Given the description of an element on the screen output the (x, y) to click on. 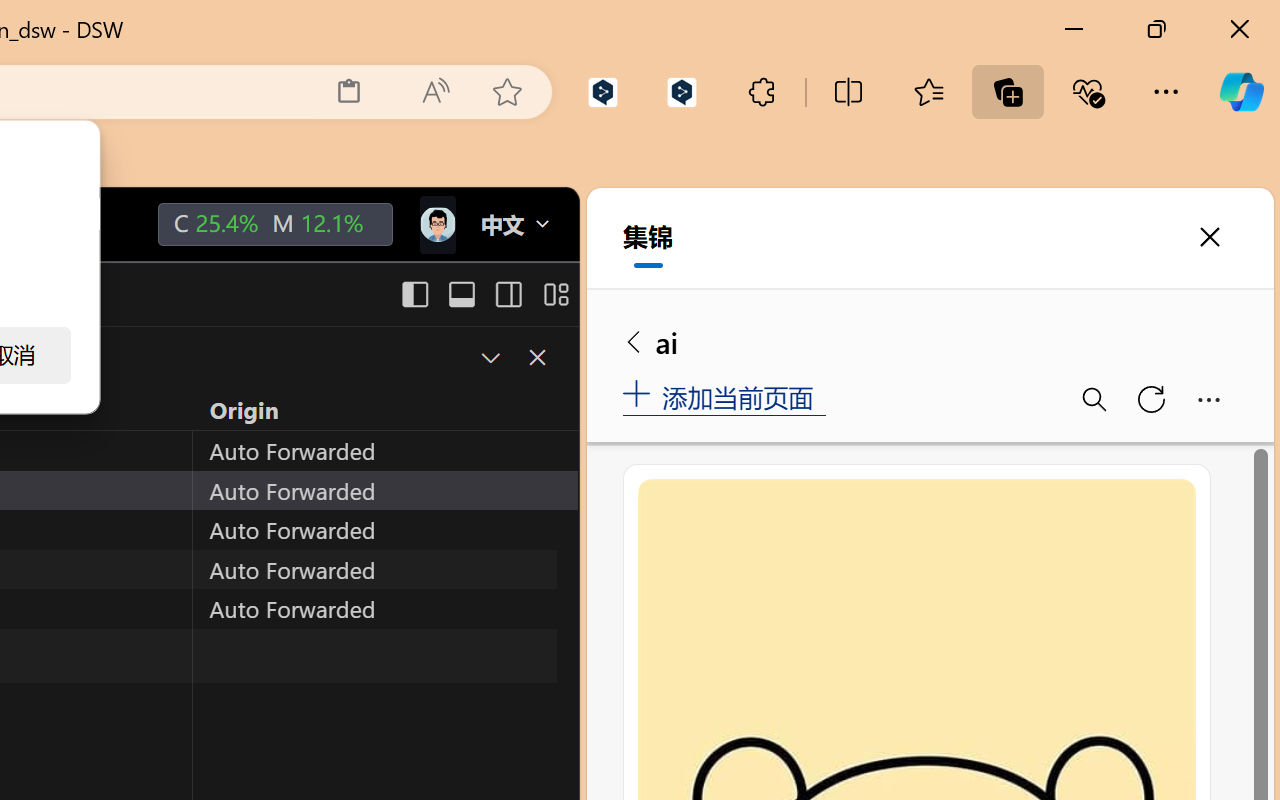
More presentations (493, 529)
More themes (509, 356)
Class: NetUIScrollBar (1271, 65)
